Given the description of an element on the screen output the (x, y) to click on. 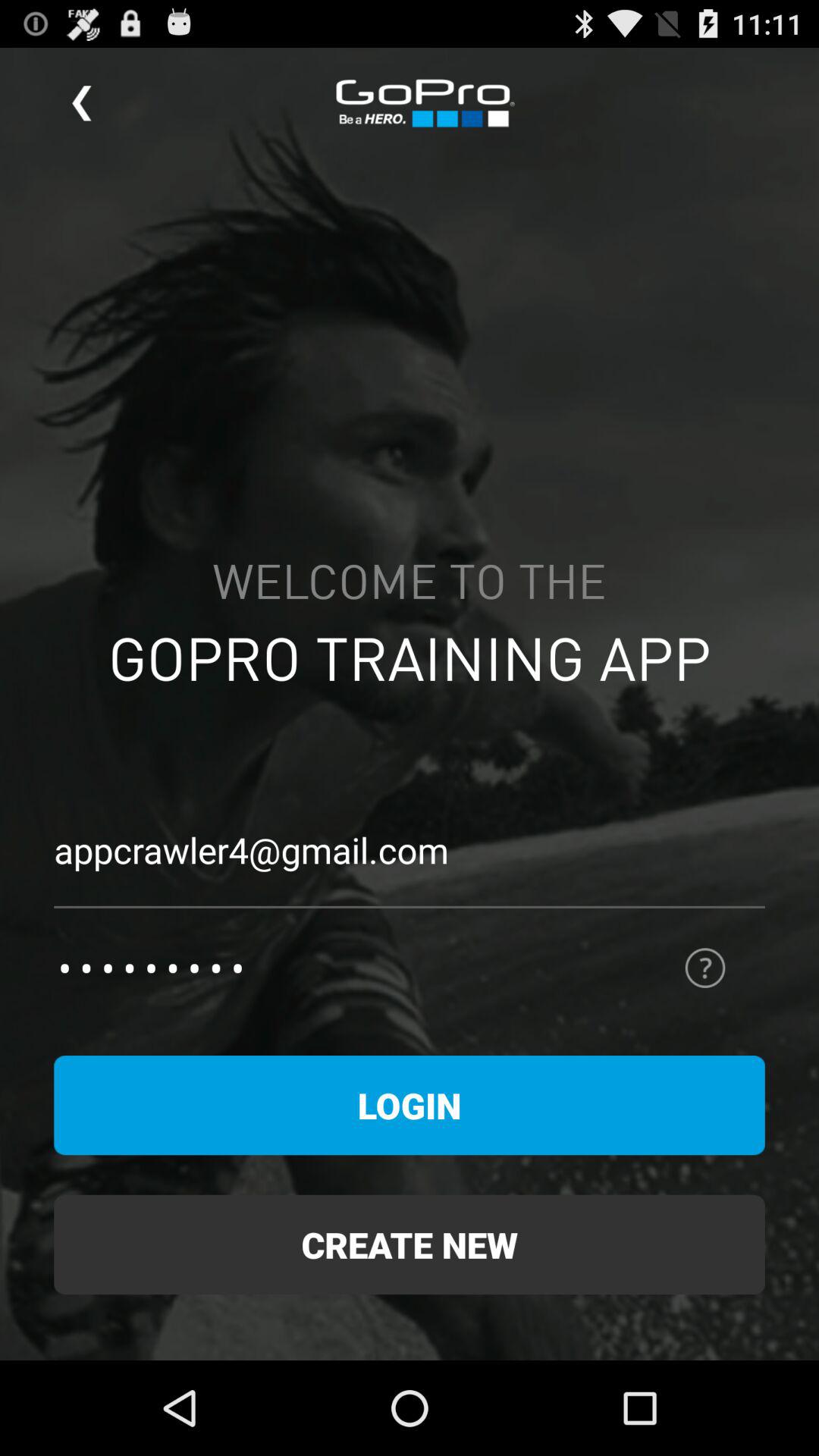
go back (81, 102)
